Given the description of an element on the screen output the (x, y) to click on. 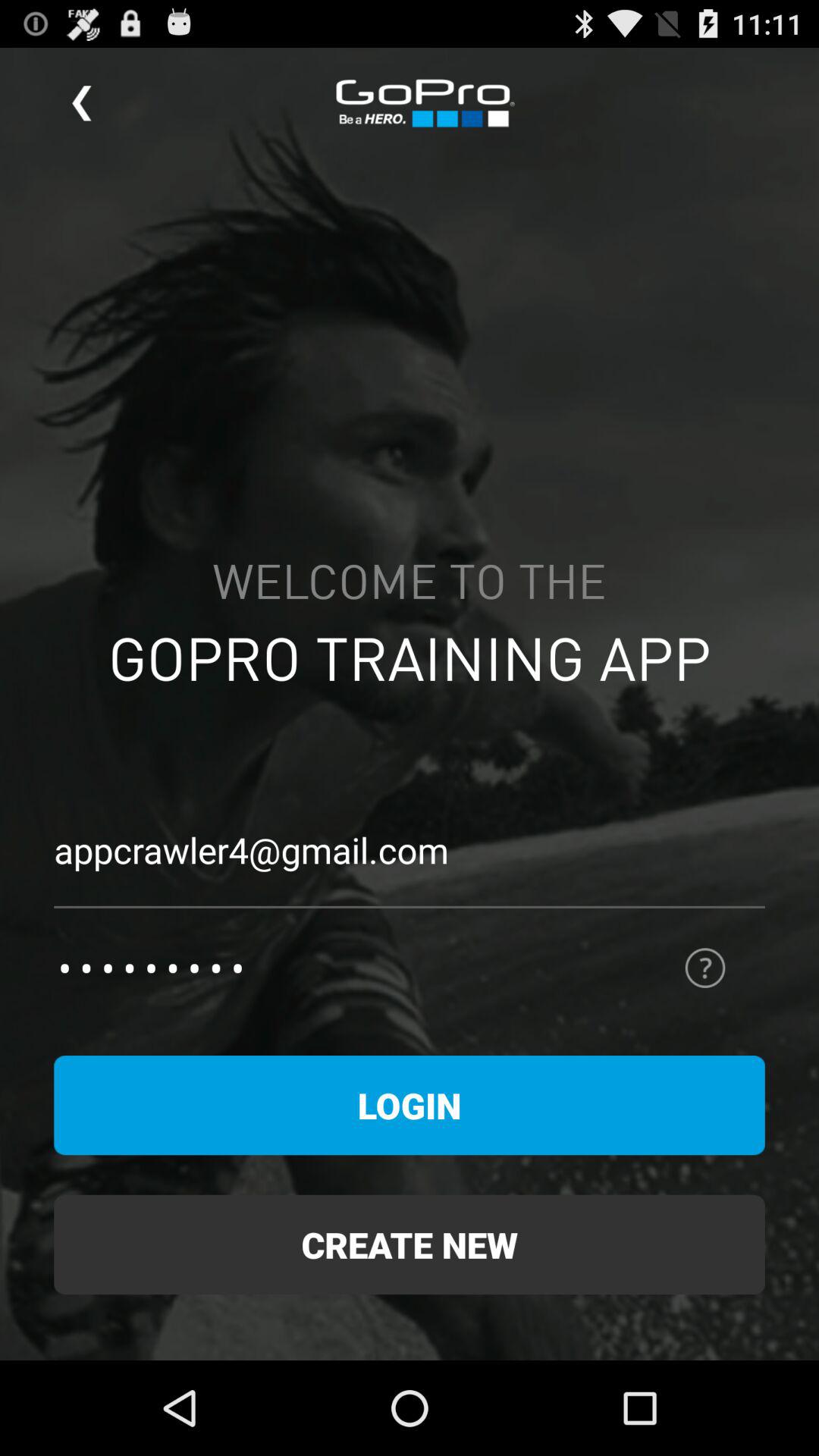
go back (81, 102)
